Given the description of an element on the screen output the (x, y) to click on. 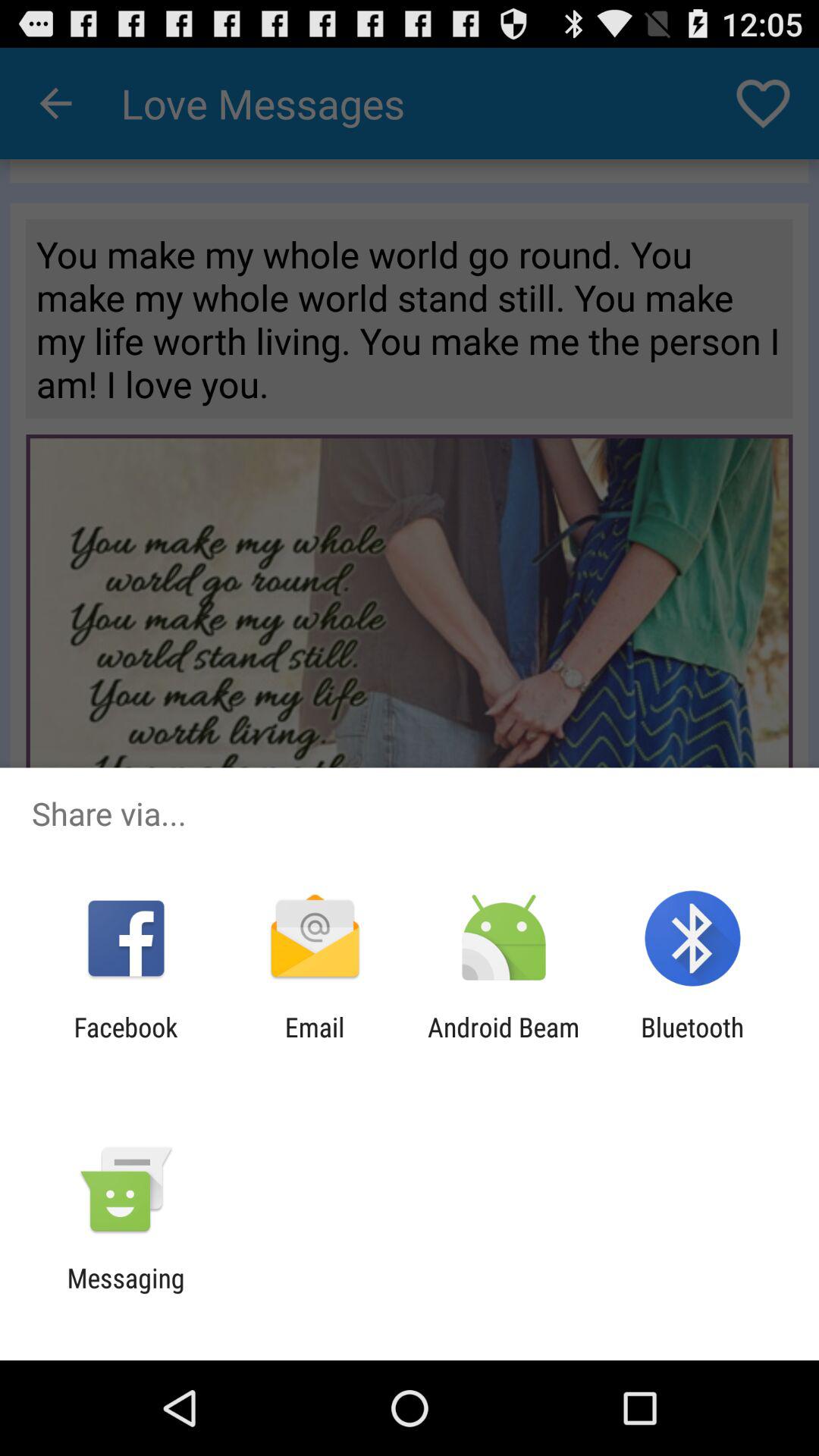
choose messaging app (125, 1293)
